Given the description of an element on the screen output the (x, y) to click on. 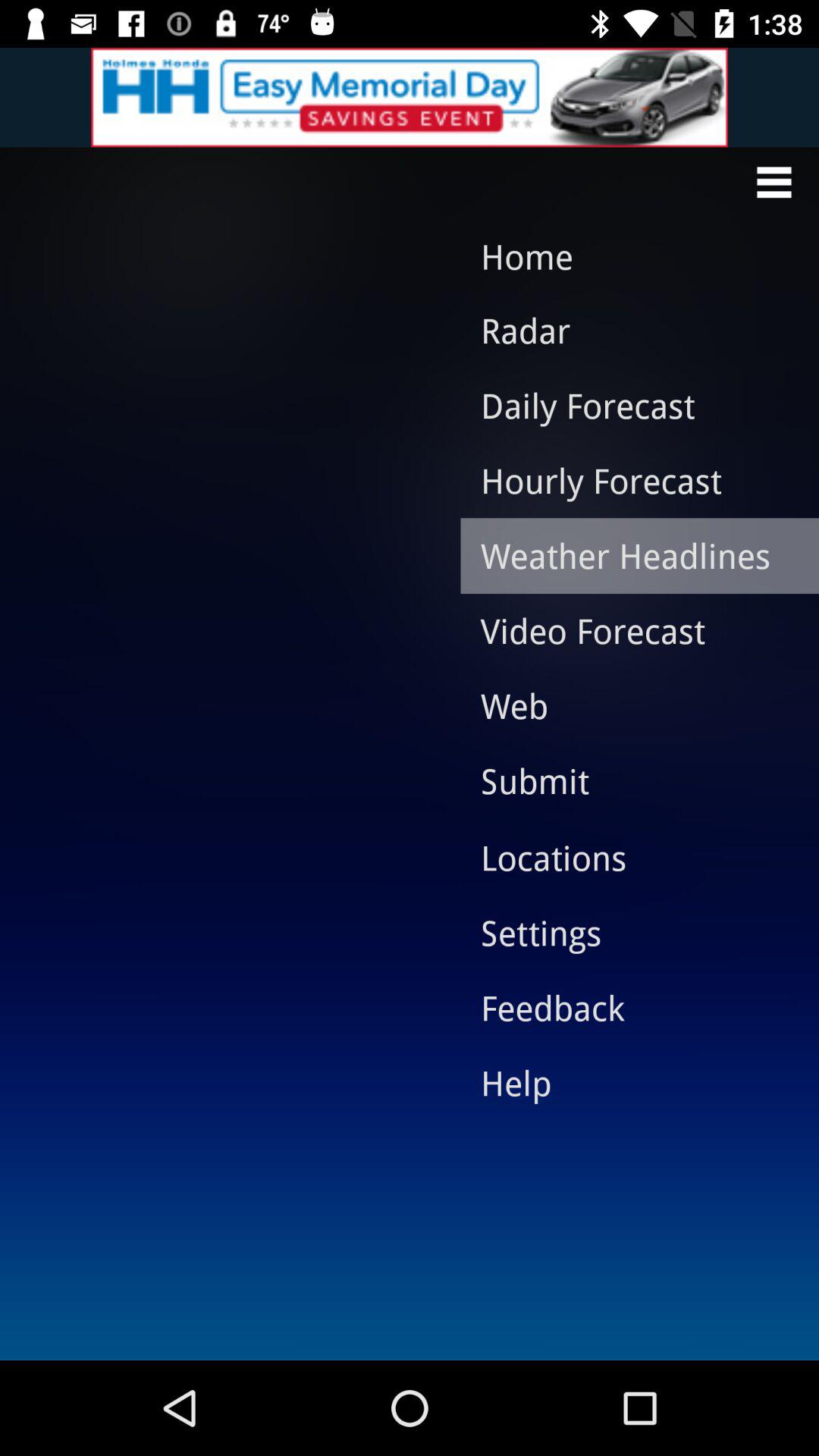
swipe until locations item (627, 857)
